Given the description of an element on the screen output the (x, y) to click on. 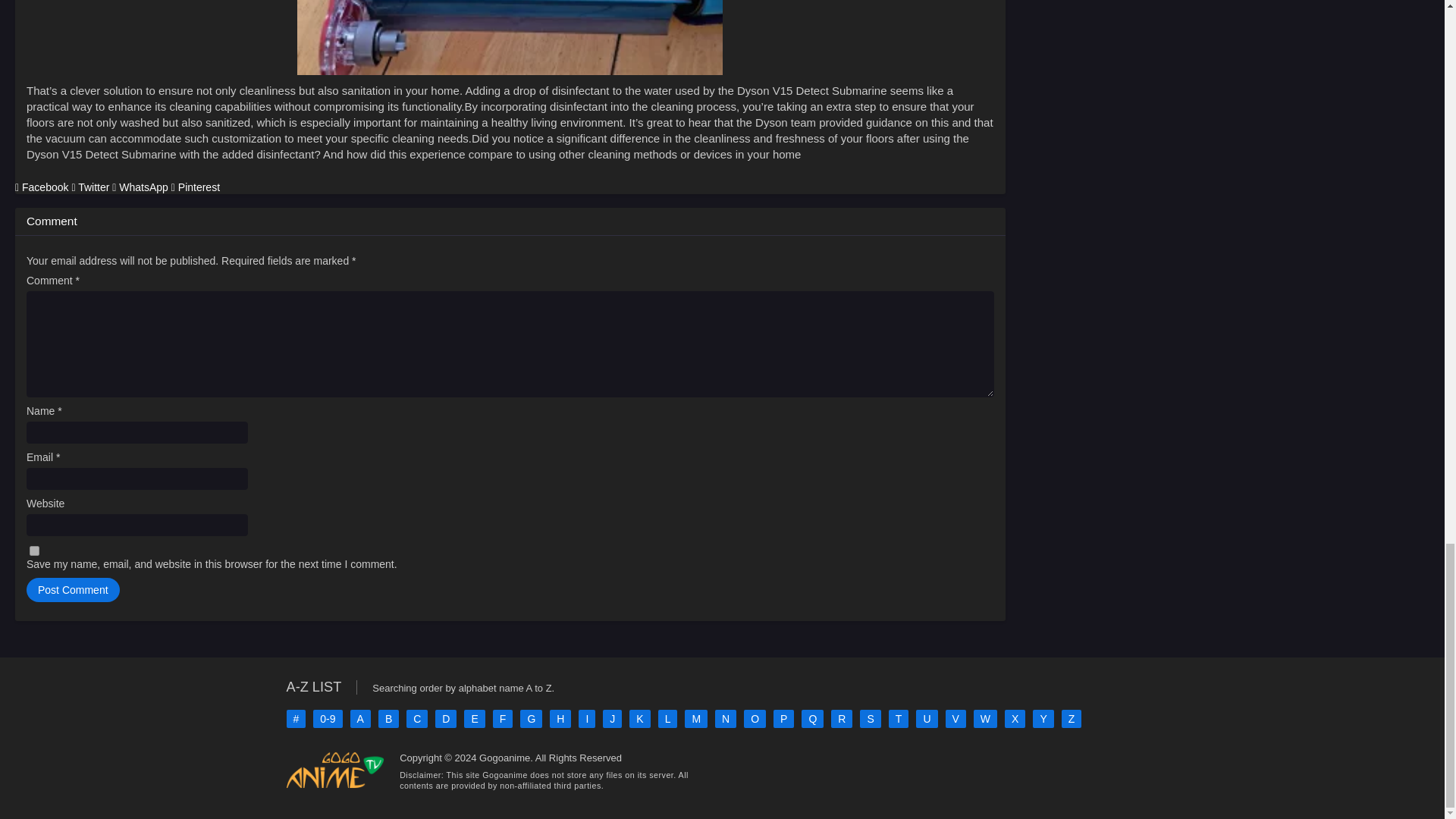
Twitter (91, 186)
WhatsApp (141, 186)
yes (34, 551)
Post Comment (72, 589)
Facebook (42, 186)
Post Comment (72, 589)
Pinterest (195, 186)
